Given the description of an element on the screen output the (x, y) to click on. 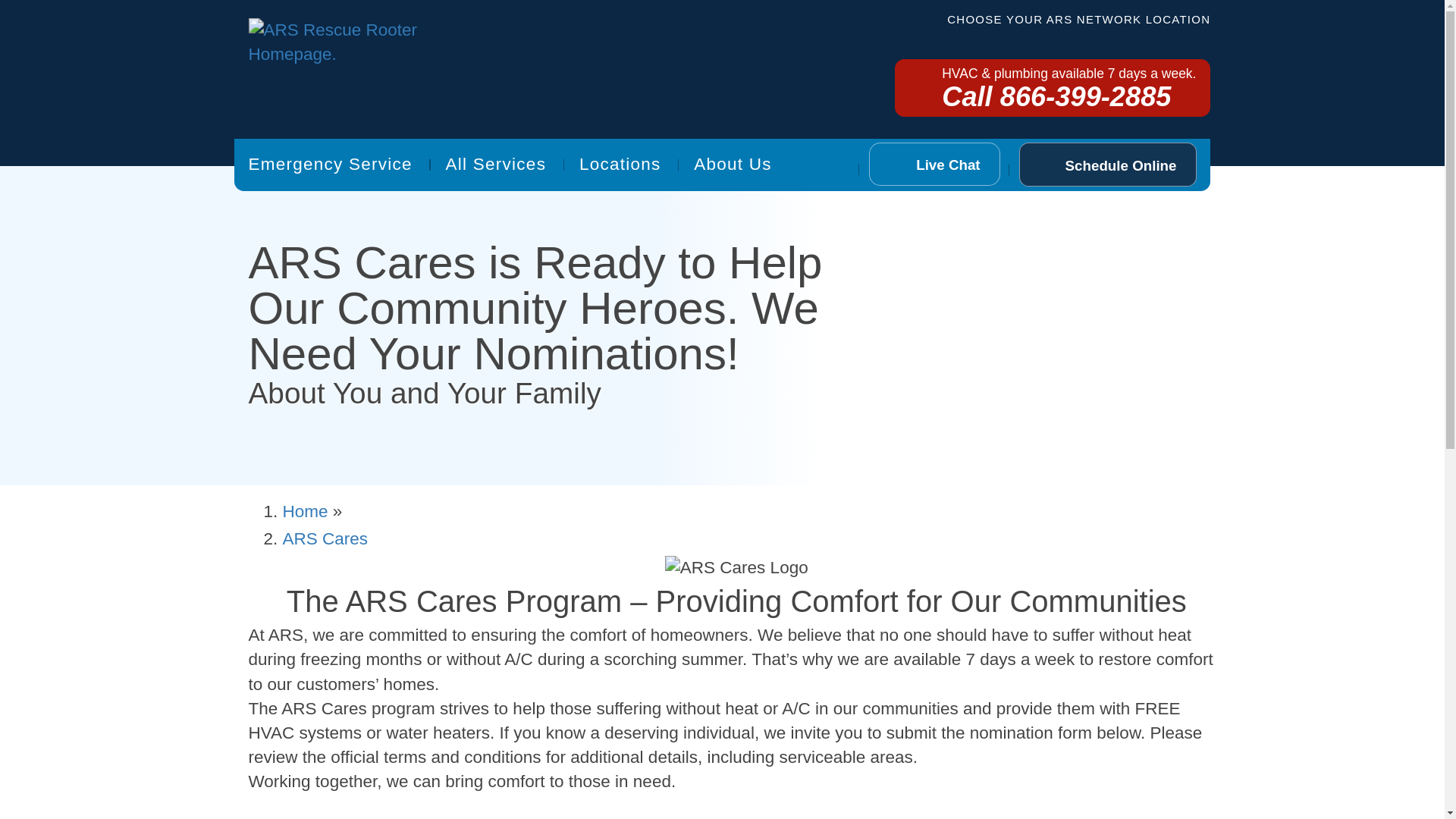
Emergency Service (264, 131)
Call 866-399-2885 (855, 77)
